Given the description of an element on the screen output the (x, y) to click on. 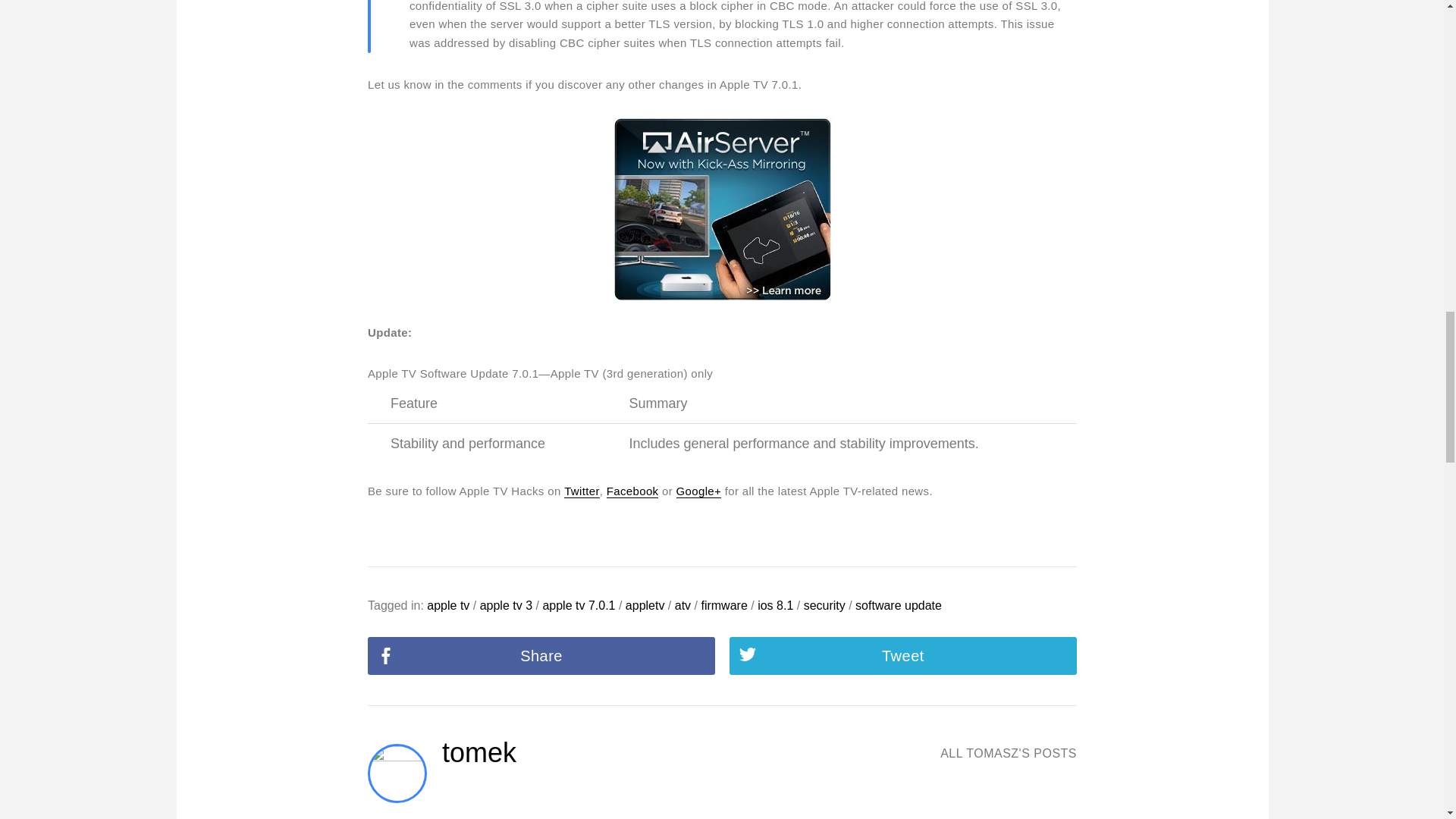
Facebook (633, 490)
Twitter (581, 490)
appletv (645, 604)
apple tv (447, 604)
apple tv 3 (506, 604)
AirServer (721, 209)
Posts by tomek (479, 752)
apple tv 7.0.1 (577, 604)
